Given the description of an element on the screen output the (x, y) to click on. 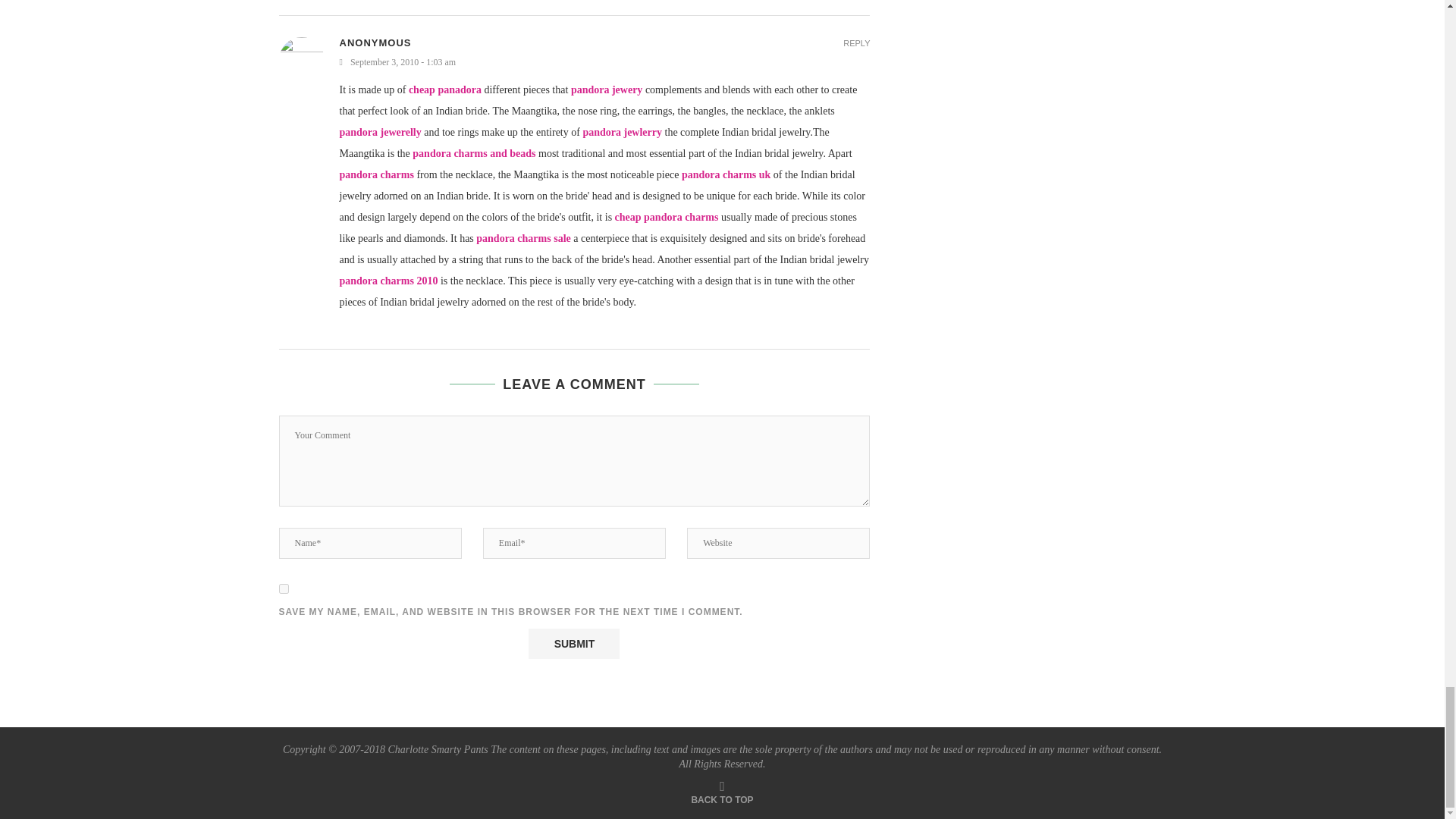
Submit (574, 643)
yes (283, 588)
